Given the description of an element on the screen output the (x, y) to click on. 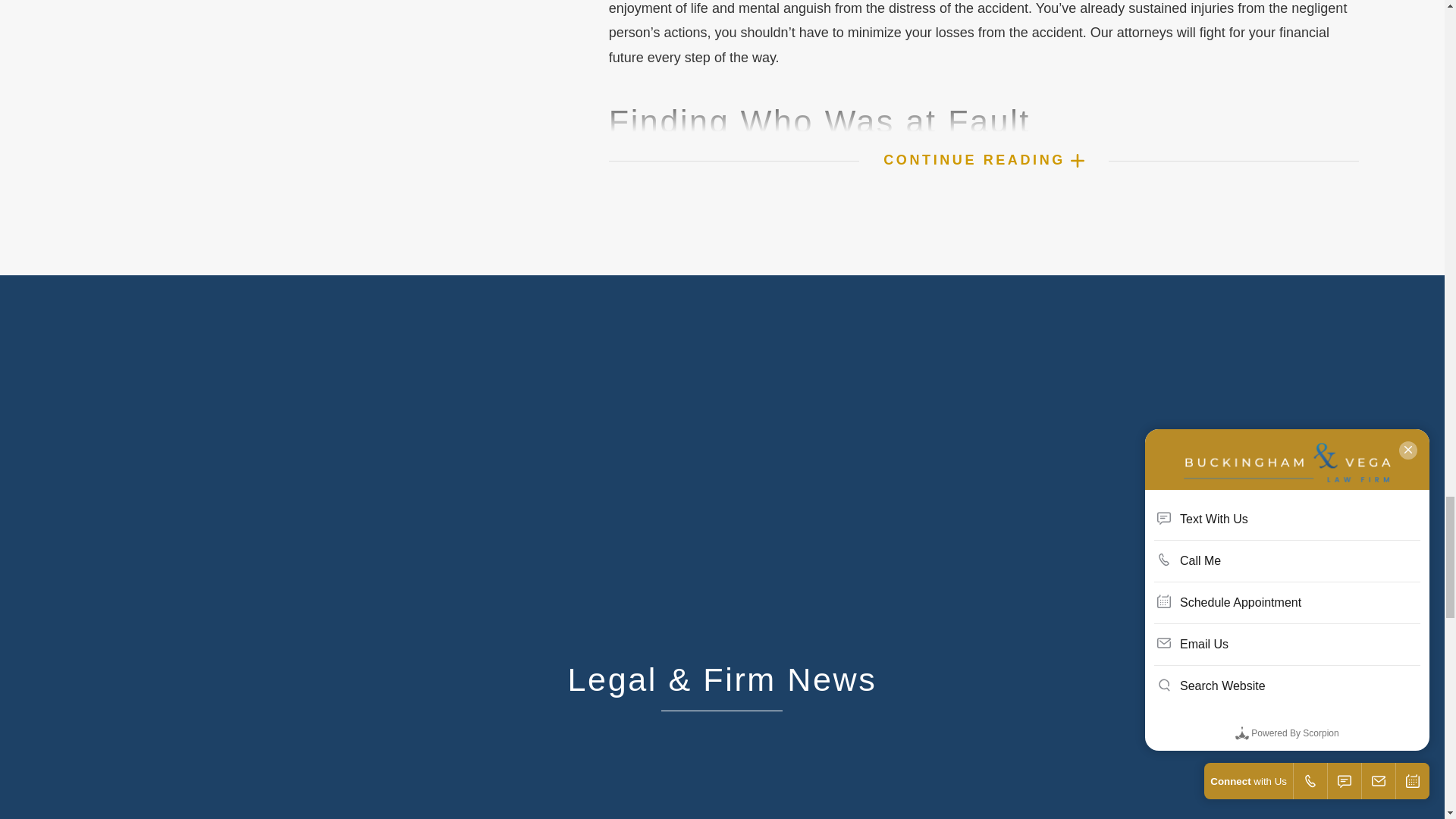
More (1077, 160)
